Given the description of an element on the screen output the (x, y) to click on. 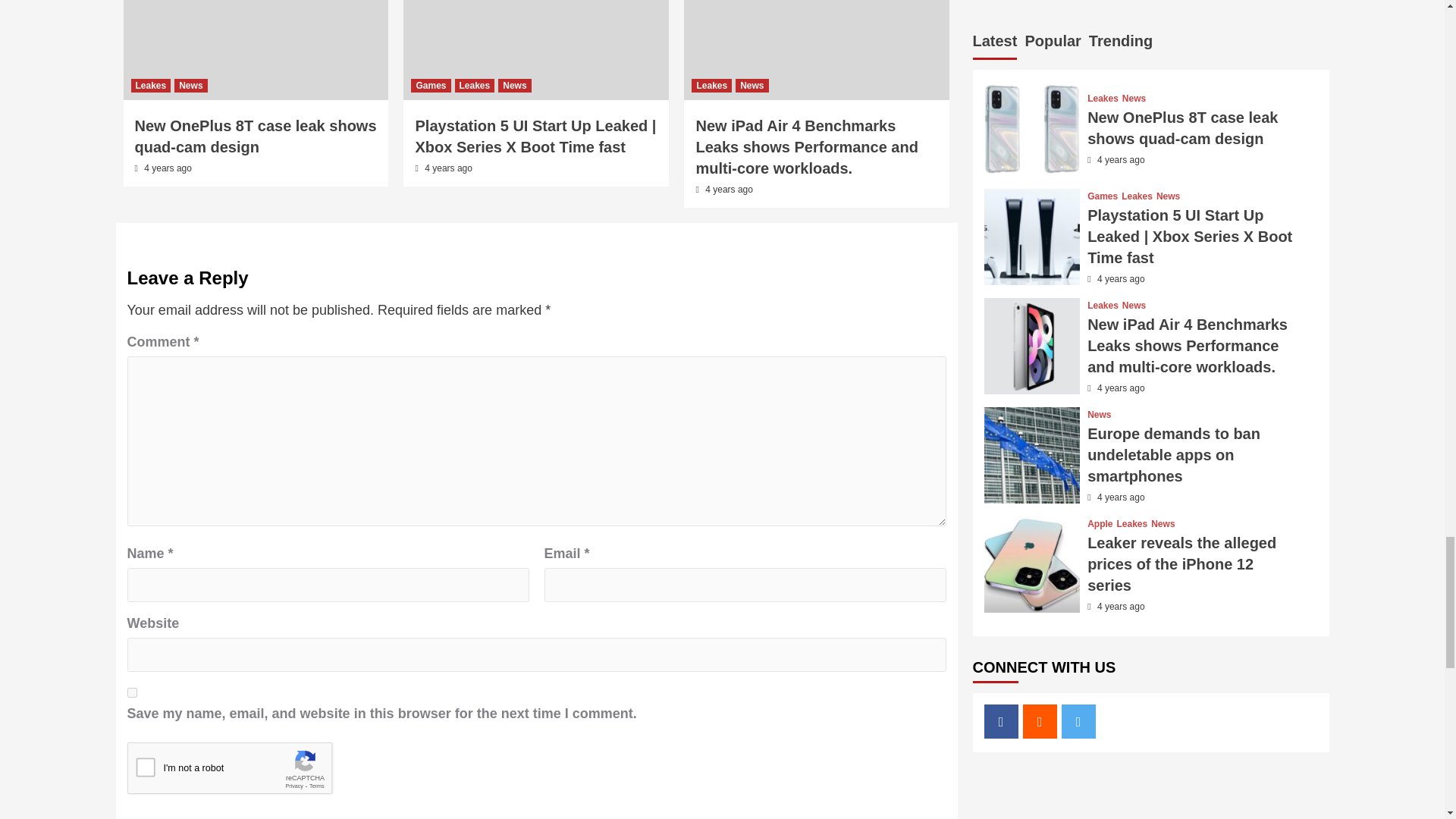
reCAPTCHA (243, 771)
yes (132, 692)
